Given the description of an element on the screen output the (x, y) to click on. 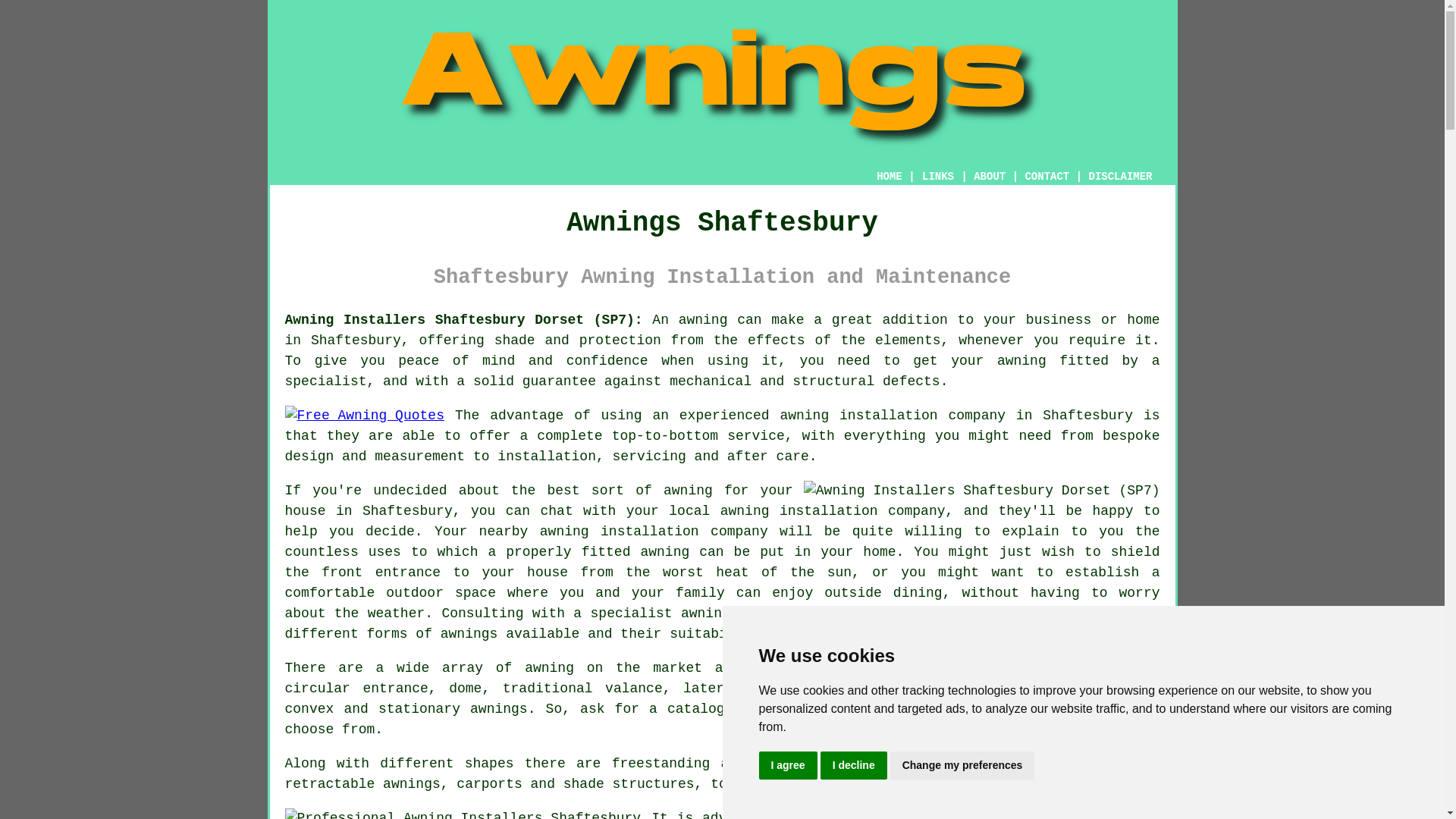
HOME (889, 176)
awning (703, 319)
LINKS (938, 176)
awnings (498, 708)
I agree (787, 765)
Change my preferences (962, 765)
Professional Awning Installers Shaftesbury (463, 813)
I decline (853, 765)
Free Awning Quotes (364, 415)
awning installation company (832, 510)
